Given the description of an element on the screen output the (x, y) to click on. 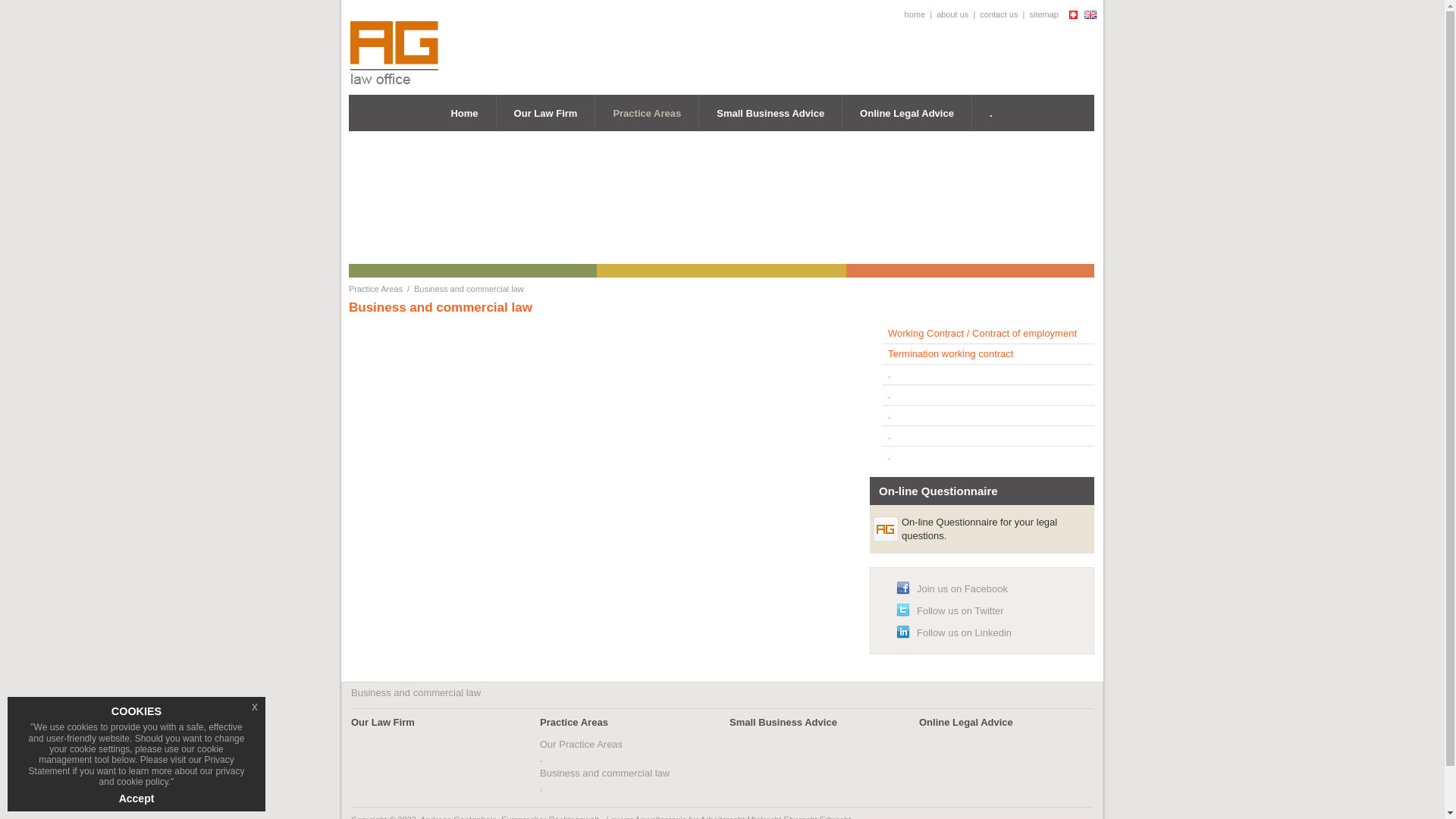
Working Contract / Contract of employment Element type: text (982, 332)
Accept Element type: text (136, 798)
about us Element type: text (952, 13)
Our Law Firm Element type: text (545, 113)
x Element type: text (254, 706)
Small Business Advice Element type: text (783, 722)
Business and commercial law Element type: text (604, 772)
Home Element type: text (463, 113)
Join us on Facebook Element type: text (961, 588)
On-line Questionnaire Element type: text (937, 490)
Termination working contract Element type: text (950, 353)
Small Business Advice Element type: text (770, 113)
. Element type: text (889, 435)
On-line Questionnaire for your legal questions. Element type: text (979, 528)
. Element type: text (889, 373)
Online Legal Advice Element type: text (966, 722)
. Element type: text (540, 787)
Our Law Firm Element type: text (382, 722)
. Element type: text (540, 758)
. Element type: text (990, 113)
. Element type: text (889, 455)
Business and commercial law Element type: text (469, 288)
Follow us on Twitter Element type: text (960, 610)
contact us Element type: text (998, 13)
. Element type: text (889, 414)
home Element type: text (914, 13)
Online Legal Advice Element type: text (906, 113)
Practice Areas Element type: text (646, 112)
. Element type: text (889, 394)
Follow us on Linkedin Element type: text (963, 632)
sitemap Element type: text (1043, 13)
Our Practice Areas Element type: text (580, 743)
